Given the description of an element on the screen output the (x, y) to click on. 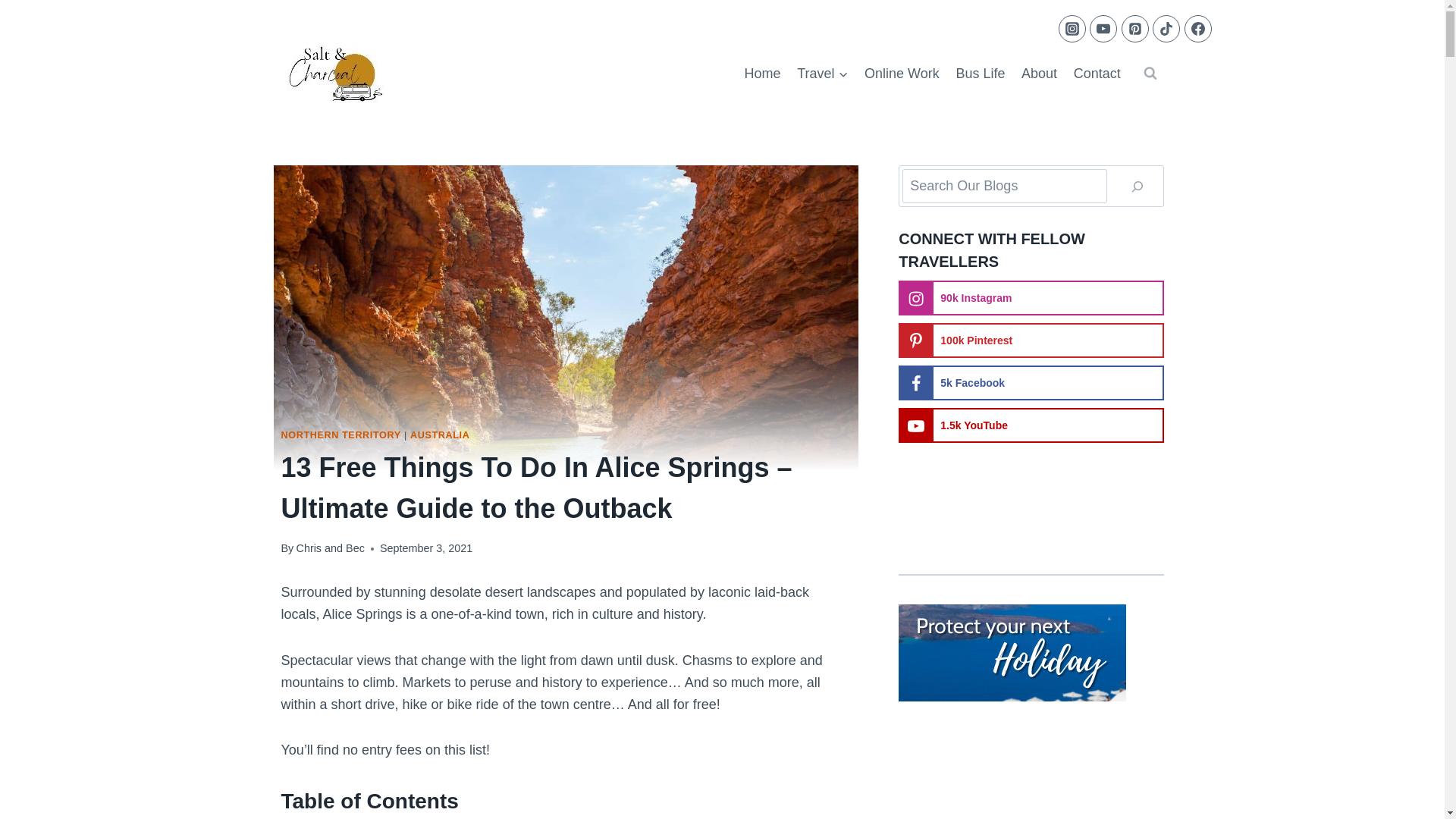
Follow on YouTube (1030, 425)
AUSTRALIA (439, 434)
Follow on Facebook (1030, 382)
NORTHERN TERRITORY (340, 434)
Chris and Bec (329, 548)
Home (762, 73)
About (1039, 73)
Online Work (901, 73)
Travel (822, 73)
Follow on Pinterest (1030, 339)
